Given the description of an element on the screen output the (x, y) to click on. 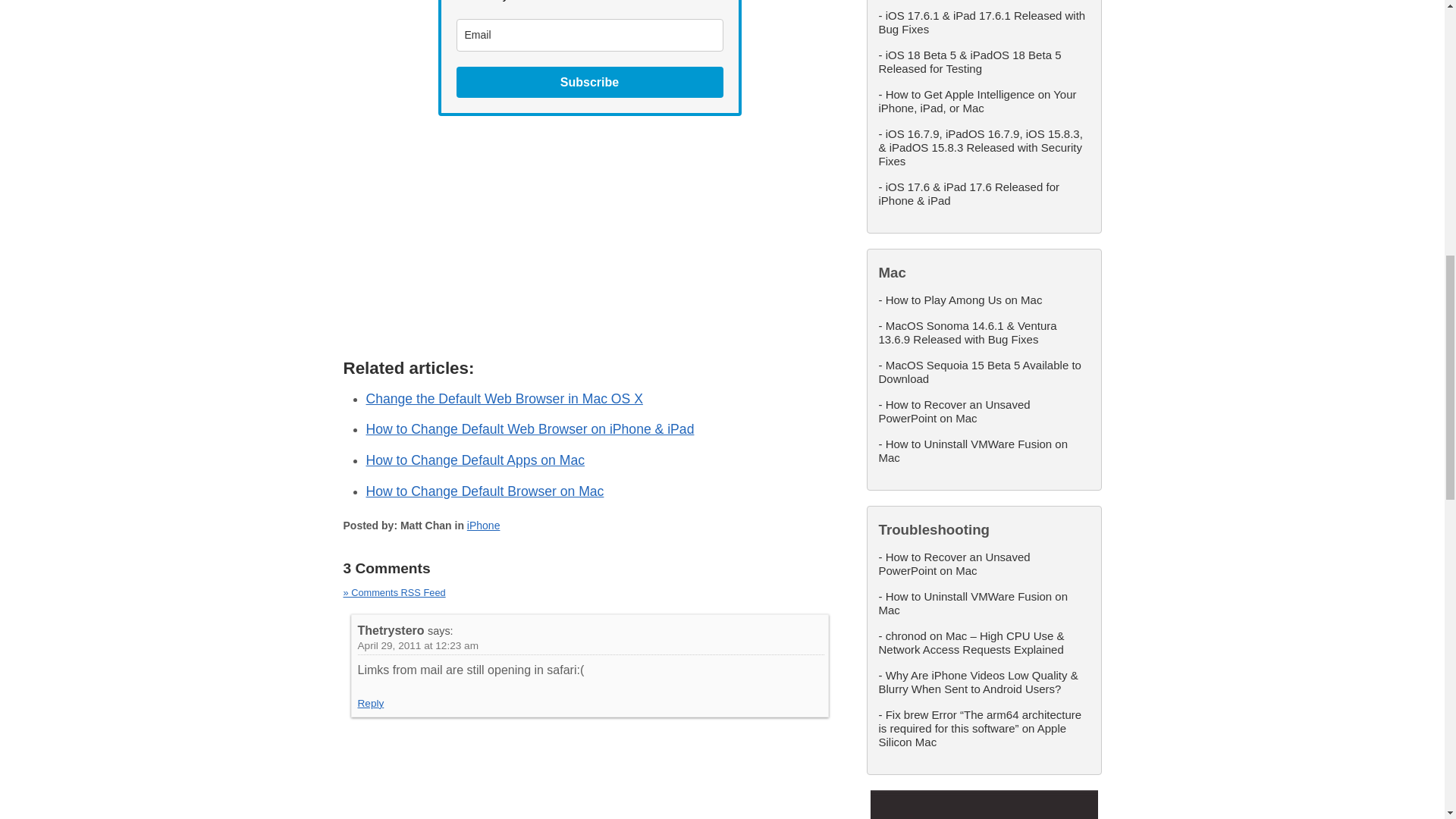
How to Change Default Apps on Mac (475, 459)
April 29, 2011 at 12:23 am (418, 645)
Permanent Link: How to Change Default Apps on Mac (475, 459)
Permanent Link: Change the Default Web Browser in Mac OS X (503, 398)
How to Change Default Browser on Mac (484, 491)
Reply (371, 703)
Subscribe (590, 81)
iPhone (483, 525)
Change the Default Web Browser in Mac OS X (503, 398)
Permanent Link: How to Change Default Browser on Mac (484, 491)
